Given the description of an element on the screen output the (x, y) to click on. 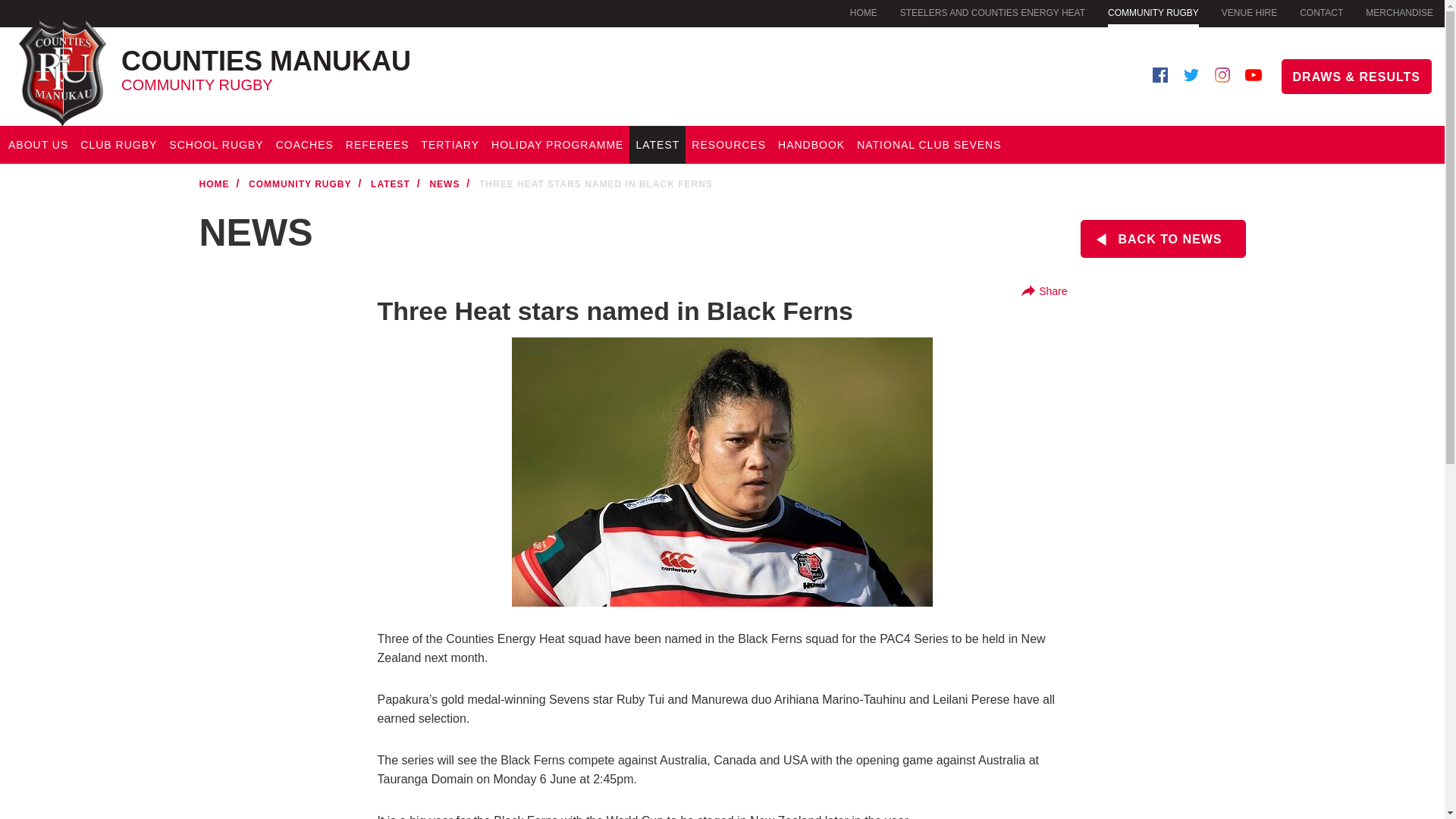
SCHOOL RUGBY (216, 144)
CONTACT (1321, 12)
MERCHANDISE (1398, 12)
CLUB RUGBY (118, 144)
HOME (863, 12)
VENUE HIRE (364, 63)
STEELERS AND COUNTIES ENERGY HEAT (1248, 12)
COMMUNITY RUGBY (991, 12)
ABOUT US (1153, 13)
